Given the description of an element on the screen output the (x, y) to click on. 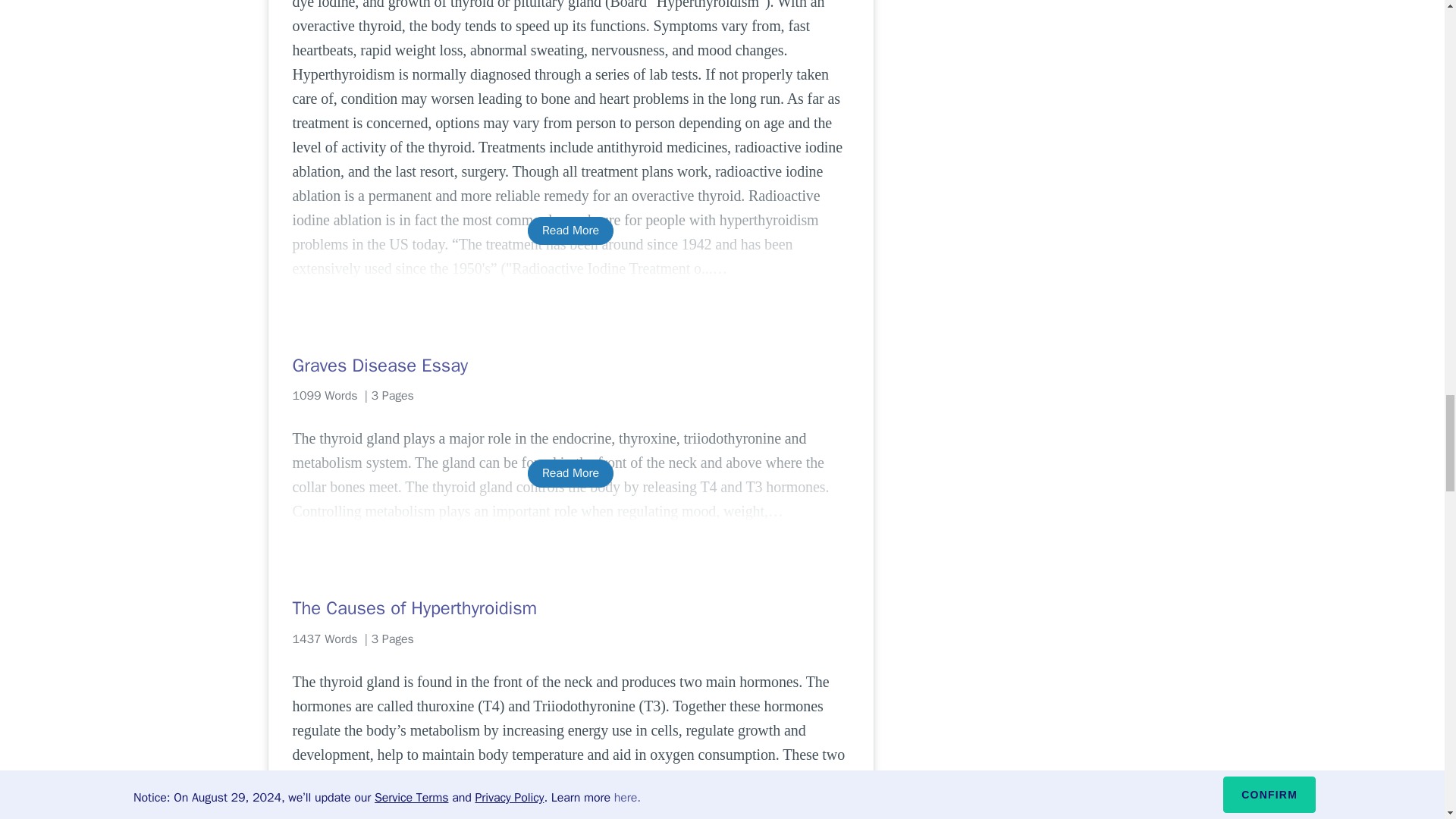
Graves Disease Essay (570, 364)
Read More (569, 230)
The Causes of Hyperthyroidism (570, 607)
Read More (569, 473)
